Given the description of an element on the screen output the (x, y) to click on. 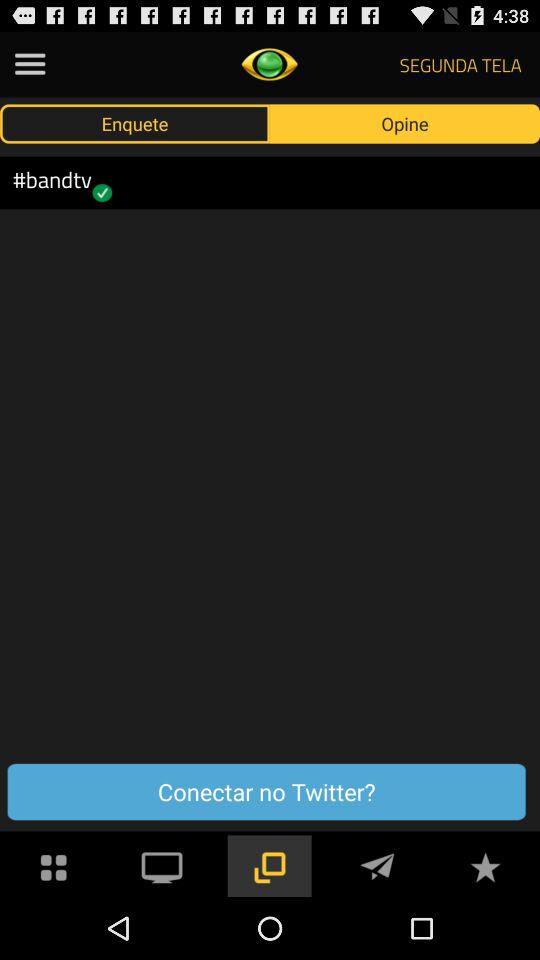
jump to opine (405, 123)
